Given the description of an element on the screen output the (x, y) to click on. 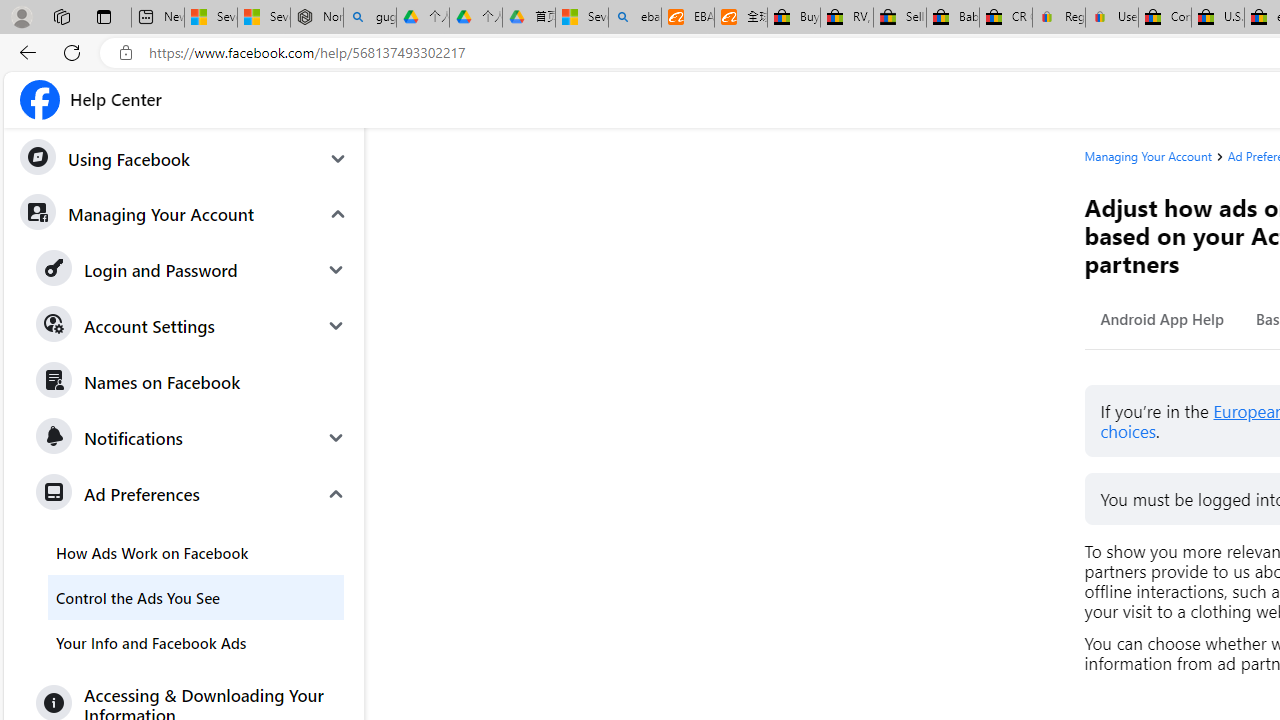
Consumer Health Data Privacy Policy - eBay Inc. (1165, 17)
Login and Password Expand (191, 269)
U.S. State Privacy Disclosures - eBay Inc. (1217, 17)
Class: x1lliihq x1tzjh5l x1k90msu x2h7rmj x1qfuztq x19dipnz (40, 99)
Control the Ads You See (195, 596)
Expand (335, 493)
Account Settings (191, 326)
Managing Your Account (183, 213)
